Given the description of an element on the screen output the (x, y) to click on. 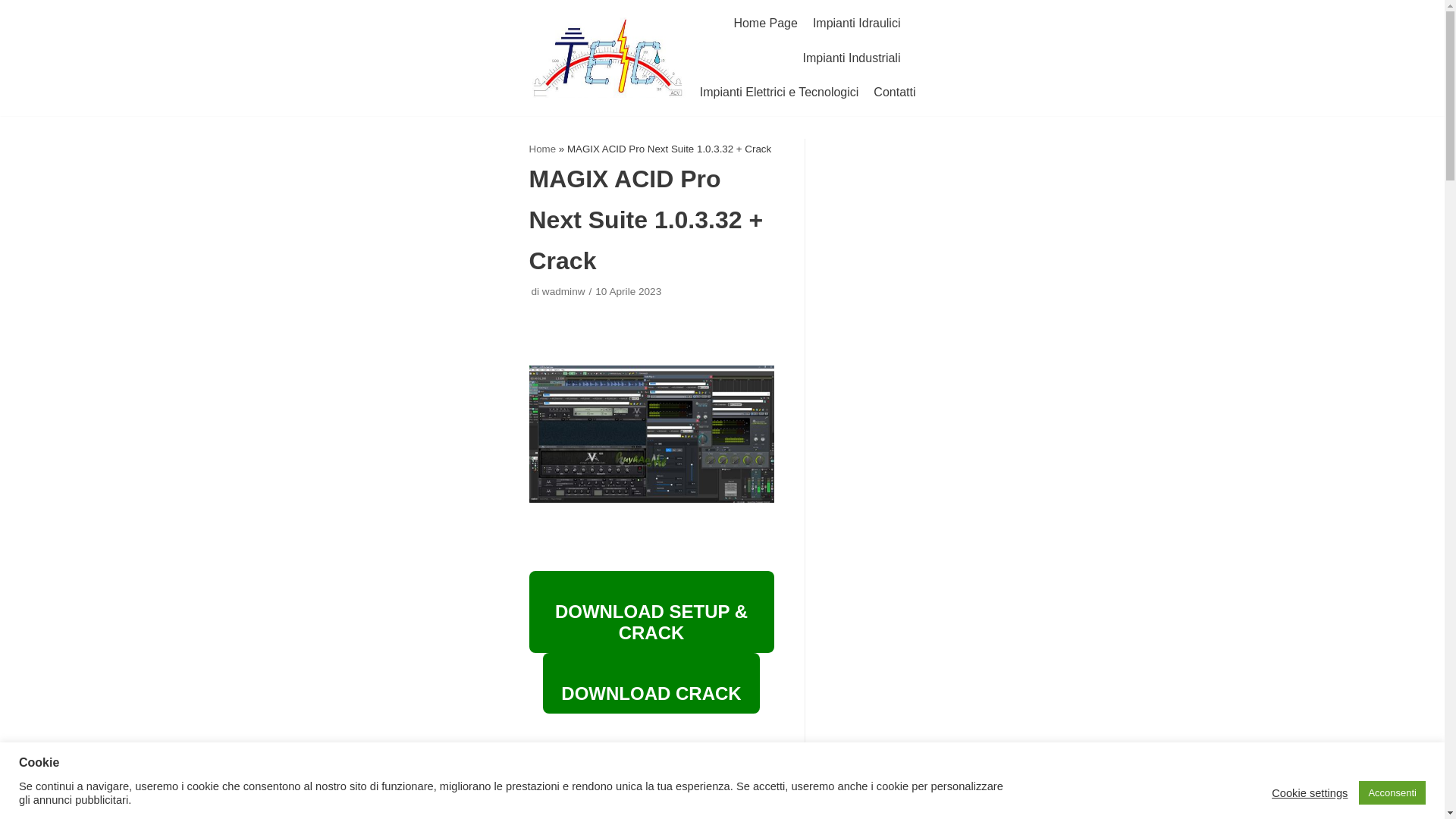
Teic Impianti (608, 57)
Impianti Industriali (852, 57)
Contatti (894, 92)
wadminw (563, 291)
Impianti Elettrici e Tecnologici (779, 92)
Articoli di wadminw (563, 291)
DOWNLOAD CRACK (650, 682)
Home Page (765, 23)
Vai al contenuto (15, 7)
Home (542, 148)
